Given the description of an element on the screen output the (x, y) to click on. 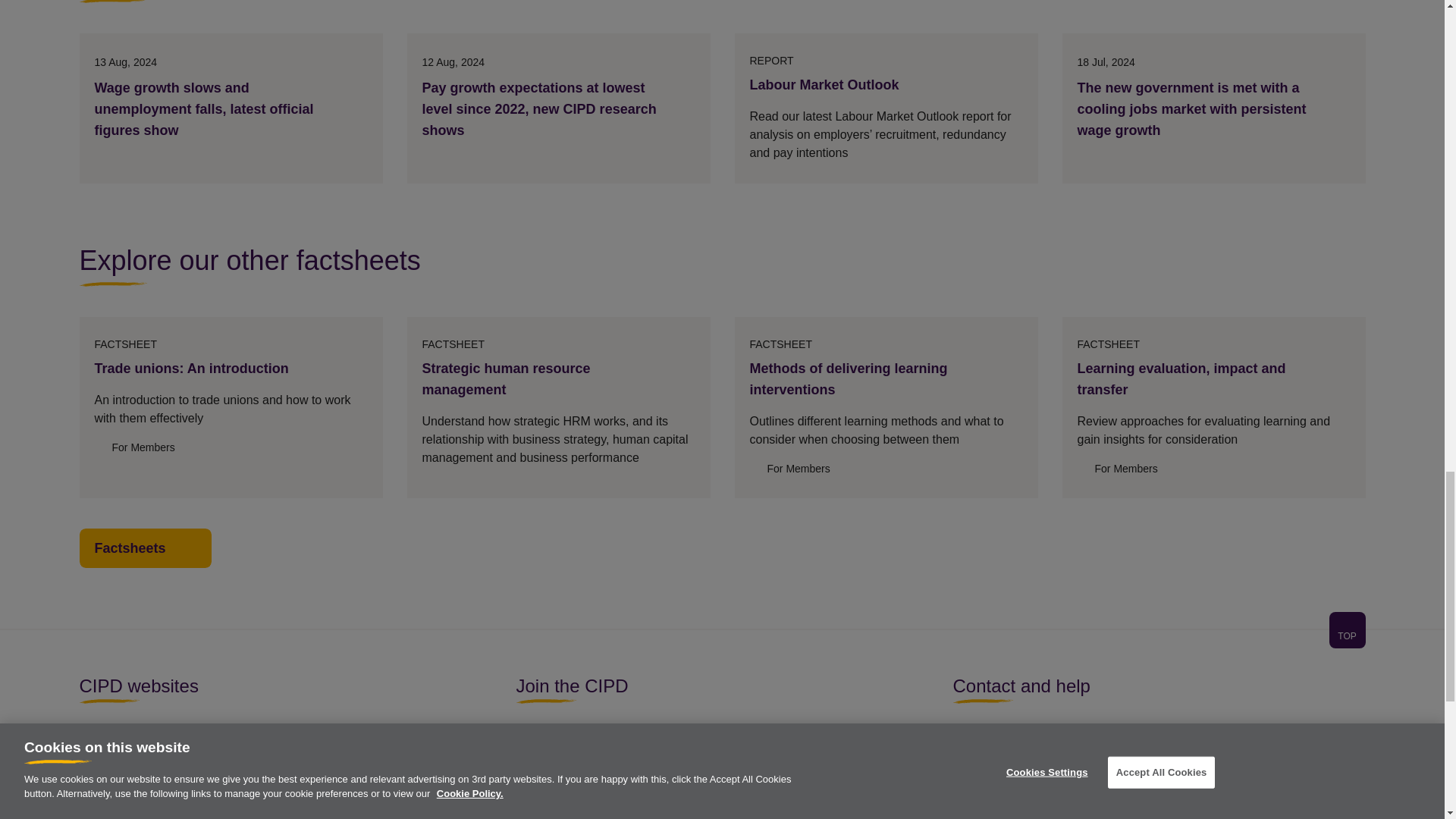
TOP (721, 638)
TOP (1346, 635)
TOP (1346, 629)
